Given the description of an element on the screen output the (x, y) to click on. 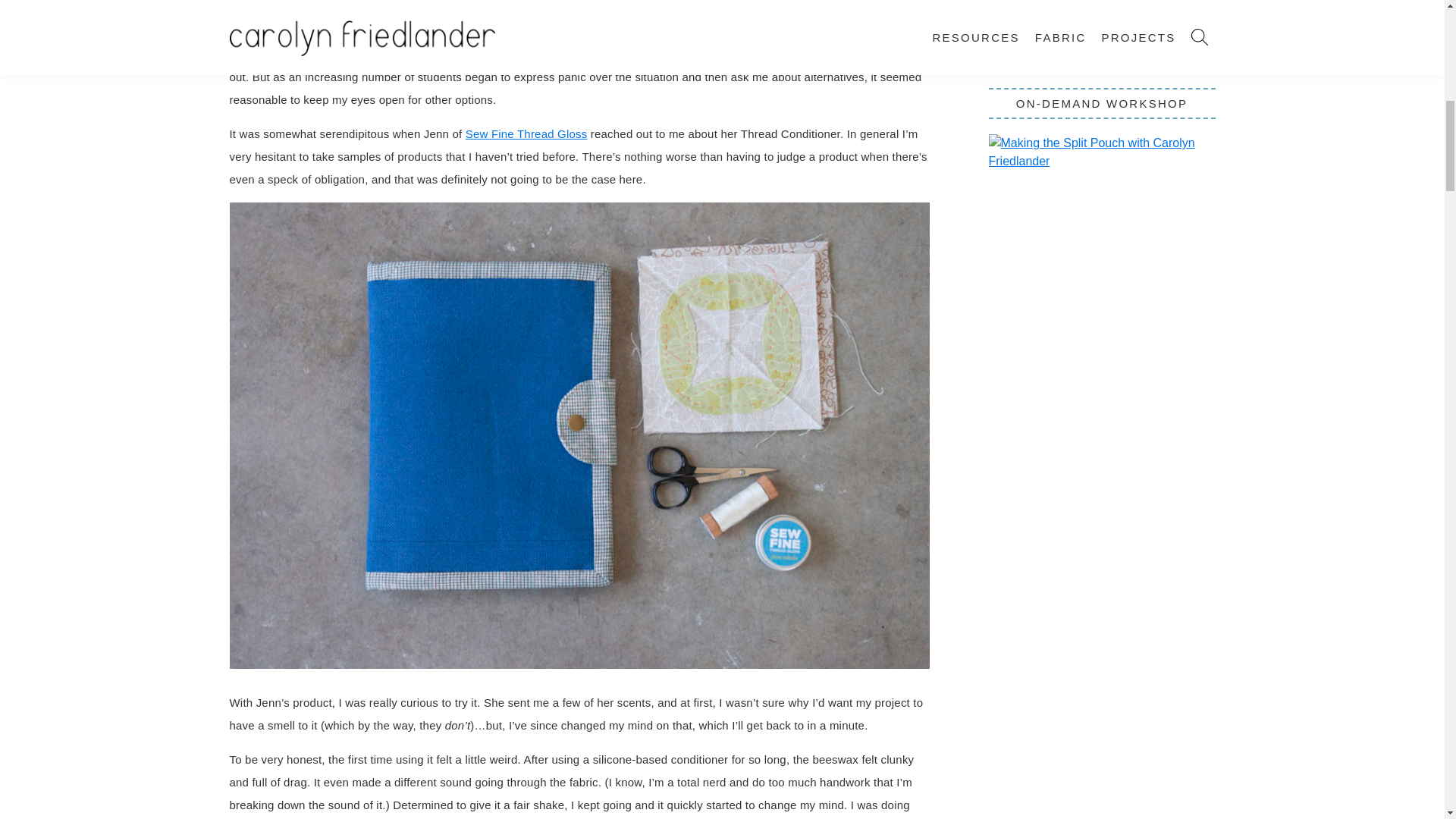
Sew Fine Thread Gloss (526, 133)
